Given the description of an element on the screen output the (x, y) to click on. 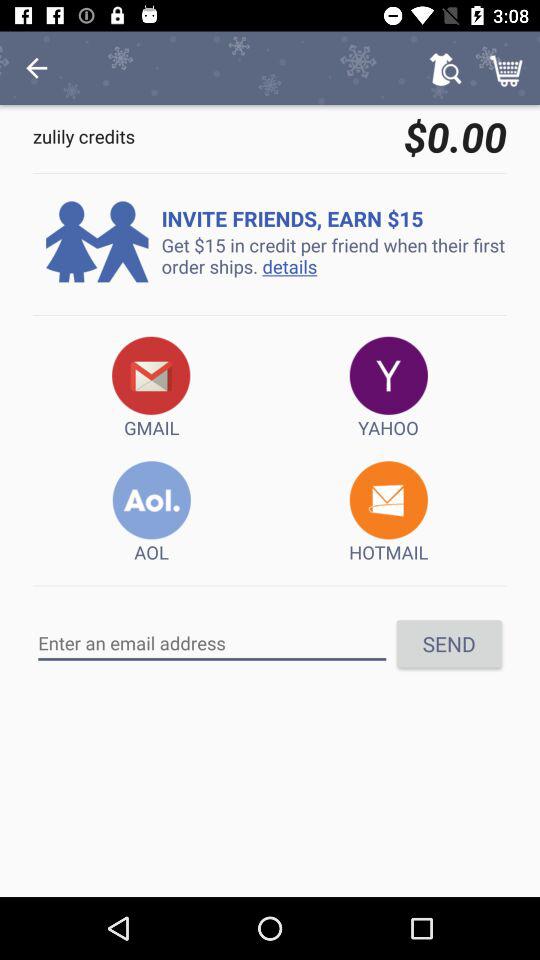
select the item above the $0.00 (444, 67)
